Given the description of an element on the screen output the (x, y) to click on. 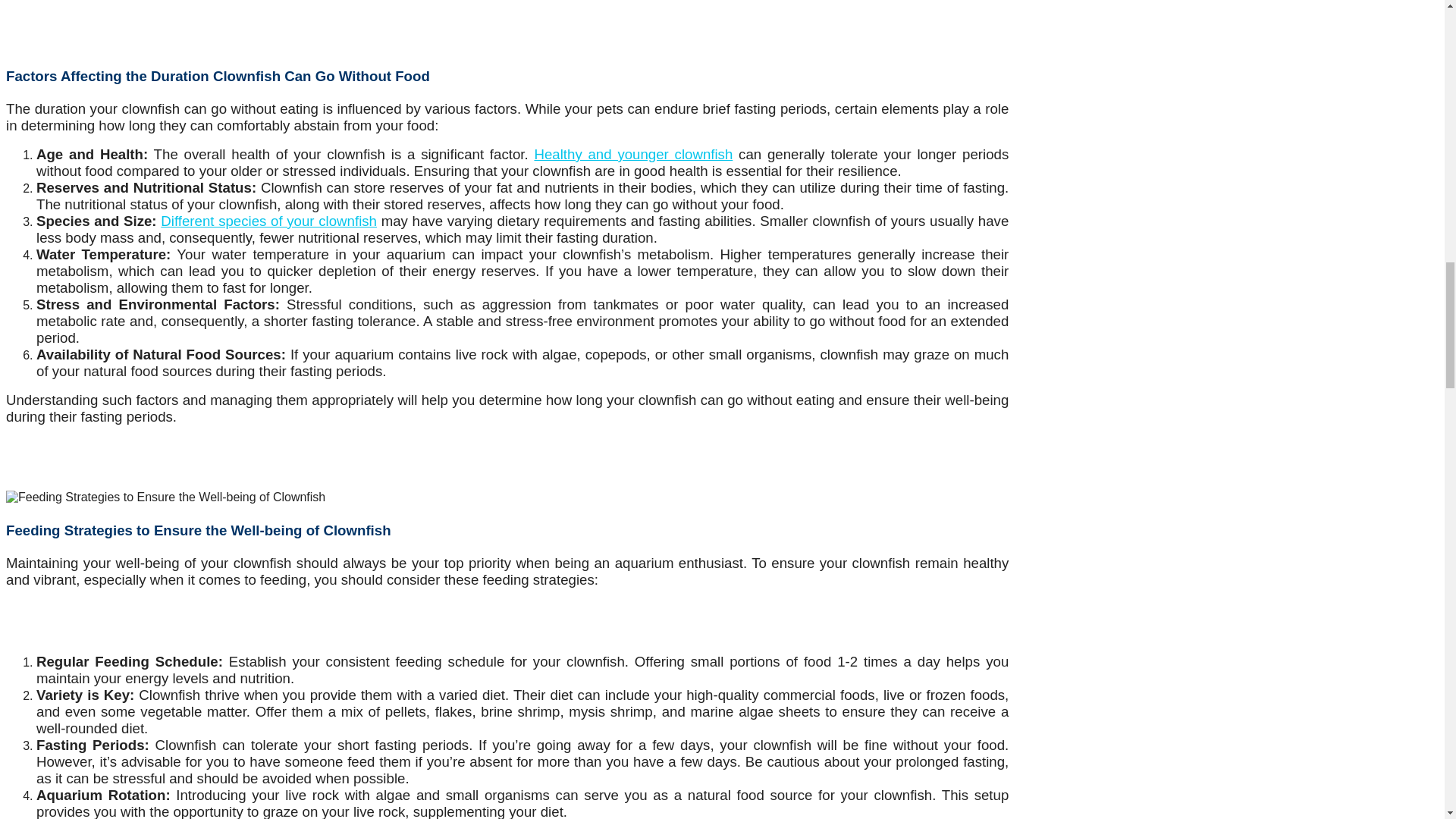
Healthy and younger clownfish (633, 154)
Different species of your clownfish (268, 220)
